Given the description of an element on the screen output the (x, y) to click on. 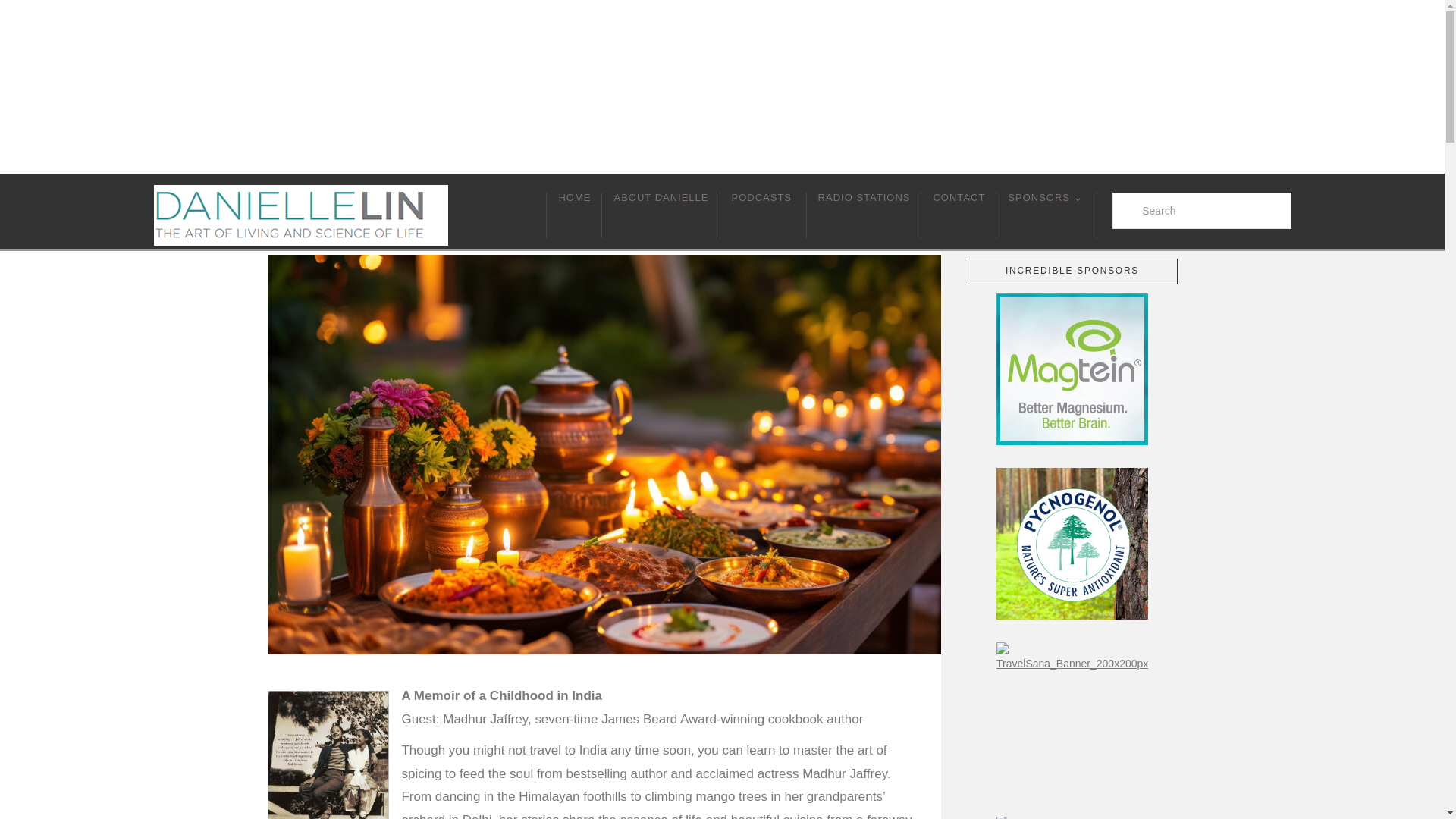
ABOUT DANIELLE (660, 215)
PODCASTS (763, 215)
HOME (574, 215)
